Given the description of an element on the screen output the (x, y) to click on. 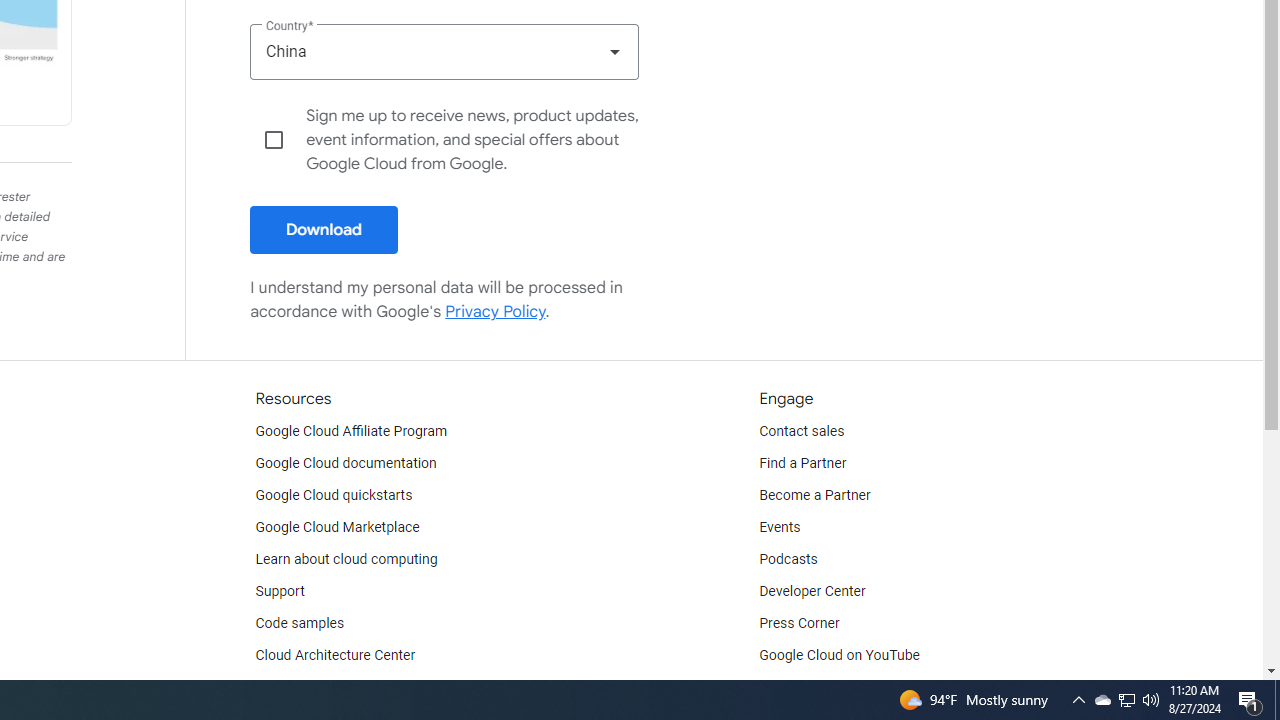
Google Cloud documentation (345, 463)
Podcasts (788, 560)
Find a Partner (803, 463)
Developer Center (812, 591)
Google Cloud on YouTube (839, 655)
Country China (444, 51)
Training (279, 687)
Google Cloud Affiliate Program (351, 431)
Learn about cloud computing (345, 560)
Events (780, 527)
Cloud Architecture Center (335, 655)
Download (324, 229)
Google Cloud Tech on YouTube (856, 687)
